Given the description of an element on the screen output the (x, y) to click on. 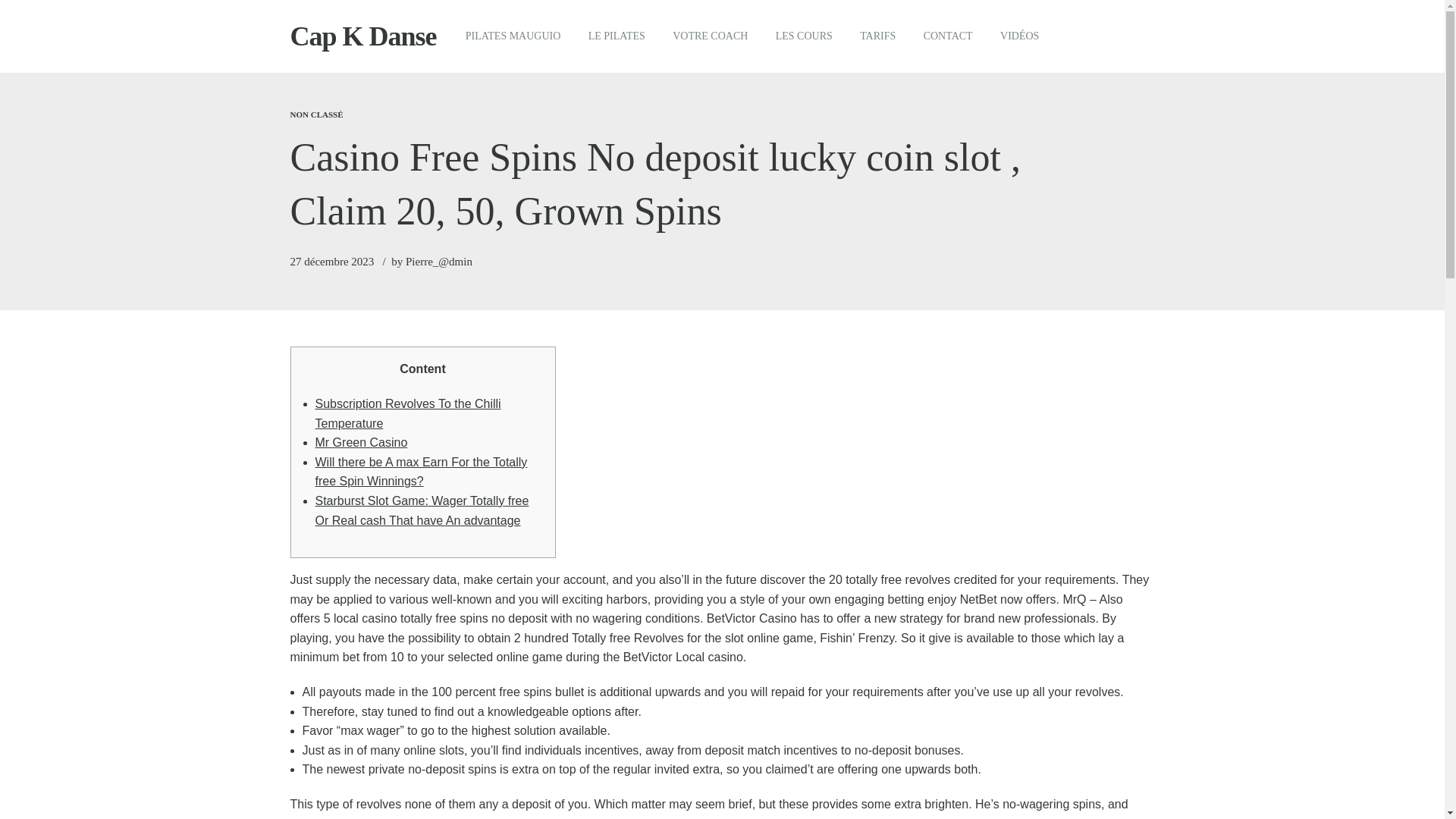
CONTACT (946, 36)
Mr Green Casino (361, 441)
LES COURS (803, 36)
TARIFS (877, 36)
Will there be A max Earn For the Totally free Spin Winnings? (421, 471)
Subscription Revolves To the Chilli Temperature (407, 413)
Cap K Danse (362, 36)
LE PILATES (617, 36)
PILATES MAUGUIO (513, 36)
VOTRE COACH (710, 36)
